Given the description of an element on the screen output the (x, y) to click on. 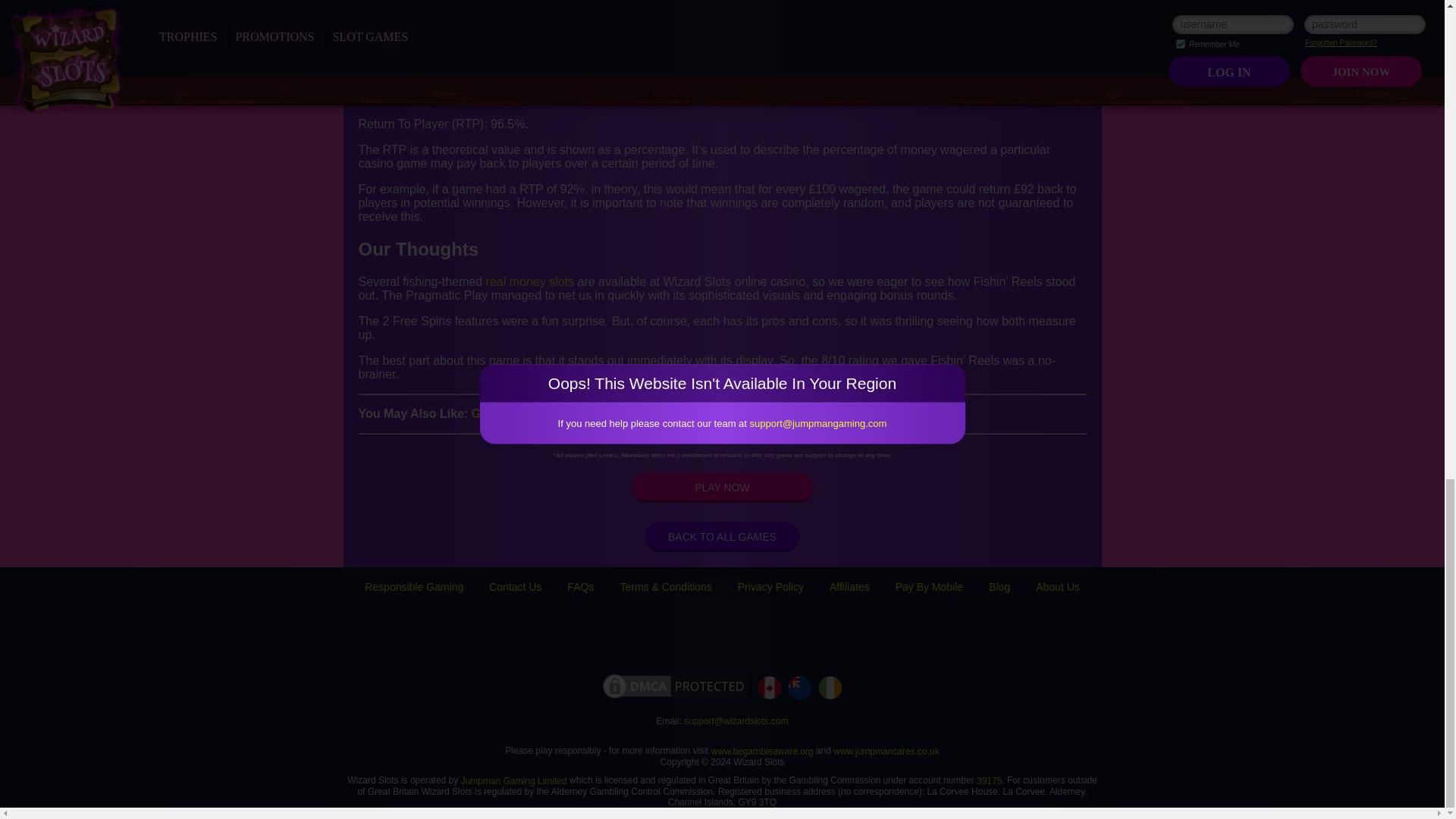
FAQs (580, 586)
BACK TO ALL GAMES (722, 536)
Golden Road (509, 413)
DMCA.com Protection Status (674, 687)
real money slots (530, 281)
Responsible Gaming (414, 586)
Contact Us (515, 586)
Fishing Trawler (691, 413)
About Us (1057, 586)
BACK TO ALL GAMES (722, 536)
Blog (999, 586)
Pay By Mobile (928, 586)
Privacy Policy (770, 586)
Affiliates (849, 586)
